Given the description of an element on the screen output the (x, y) to click on. 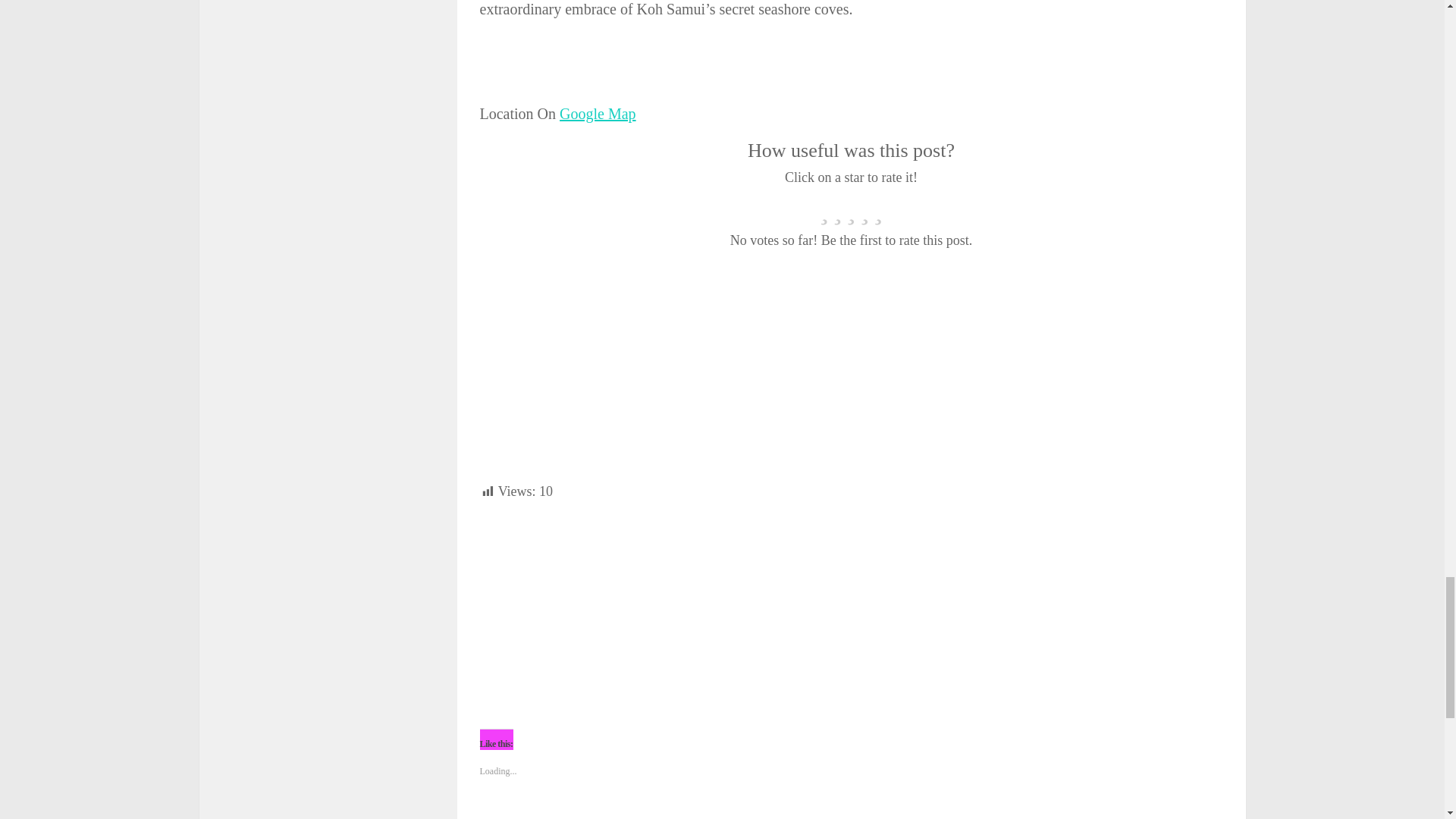
Google Map (597, 113)
